Given the description of an element on the screen output the (x, y) to click on. 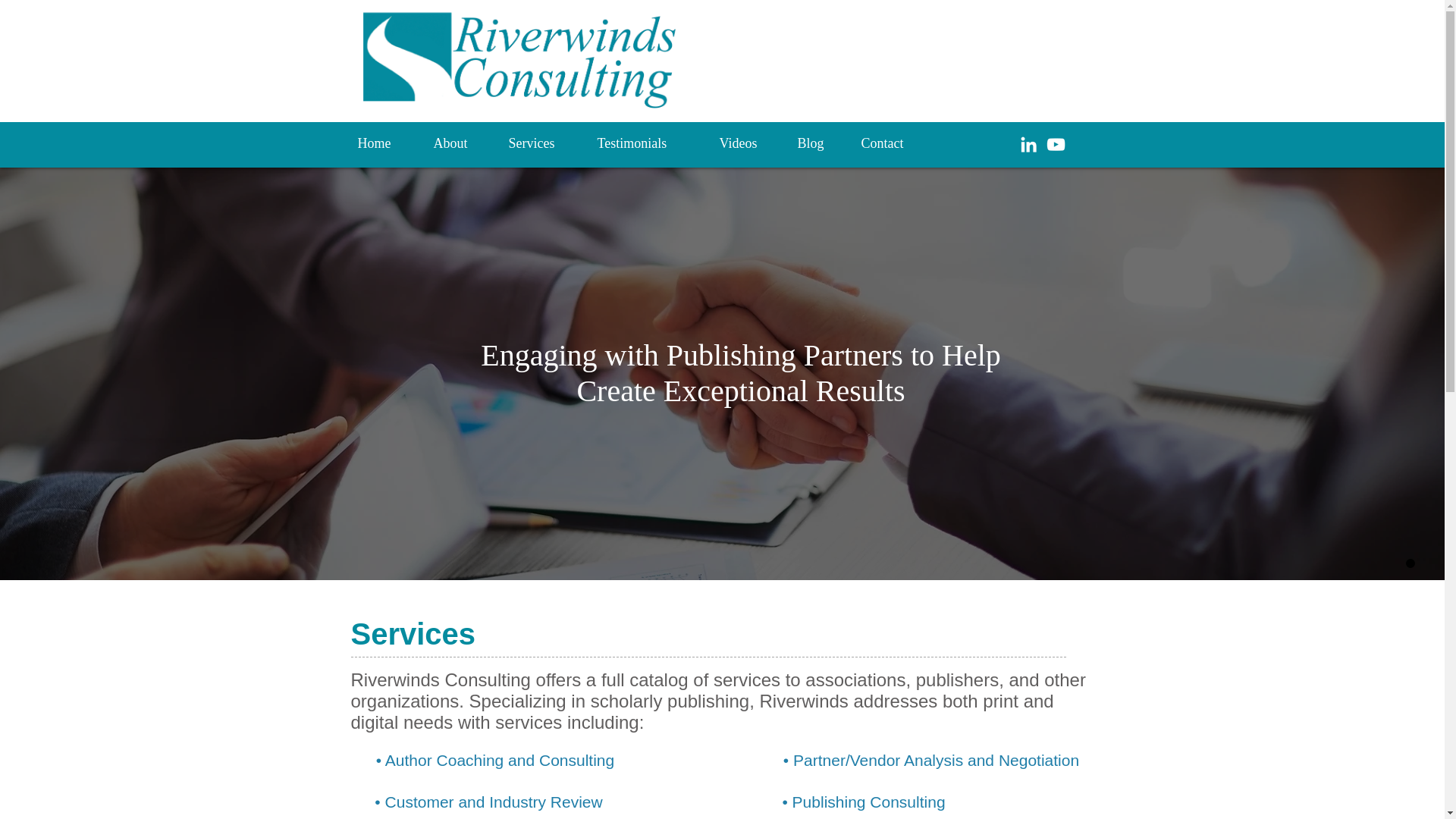
Contact (892, 143)
Videos (746, 143)
About (459, 143)
Testimonials (646, 143)
Riverwinds Consulting (536, 61)
Home (384, 143)
Blog (817, 143)
